Given the description of an element on the screen output the (x, y) to click on. 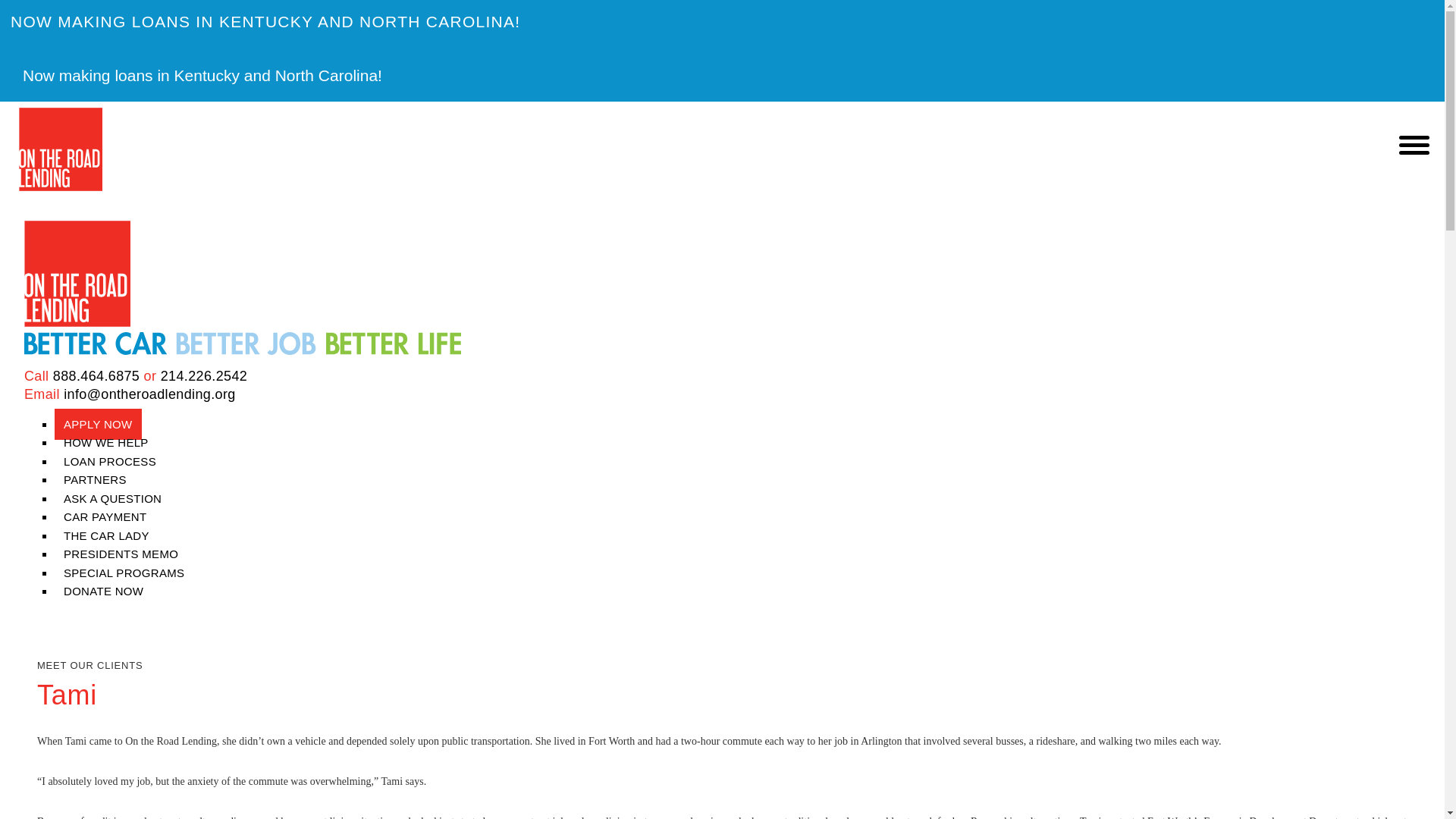
HOW WE HELP (106, 441)
THE CAR LADY (106, 535)
ASK A QUESTION (112, 498)
DONATE NOW (98, 590)
214.226.2542 (203, 376)
888.464.6875 (95, 376)
PARTNERS (95, 479)
NOW MAKING LOANS IN KENTUCKY AND NORTH CAROLINA! (722, 21)
CAR PAYMENT (105, 516)
PRESIDENTS MEMO (121, 553)
